Given the description of an element on the screen output the (x, y) to click on. 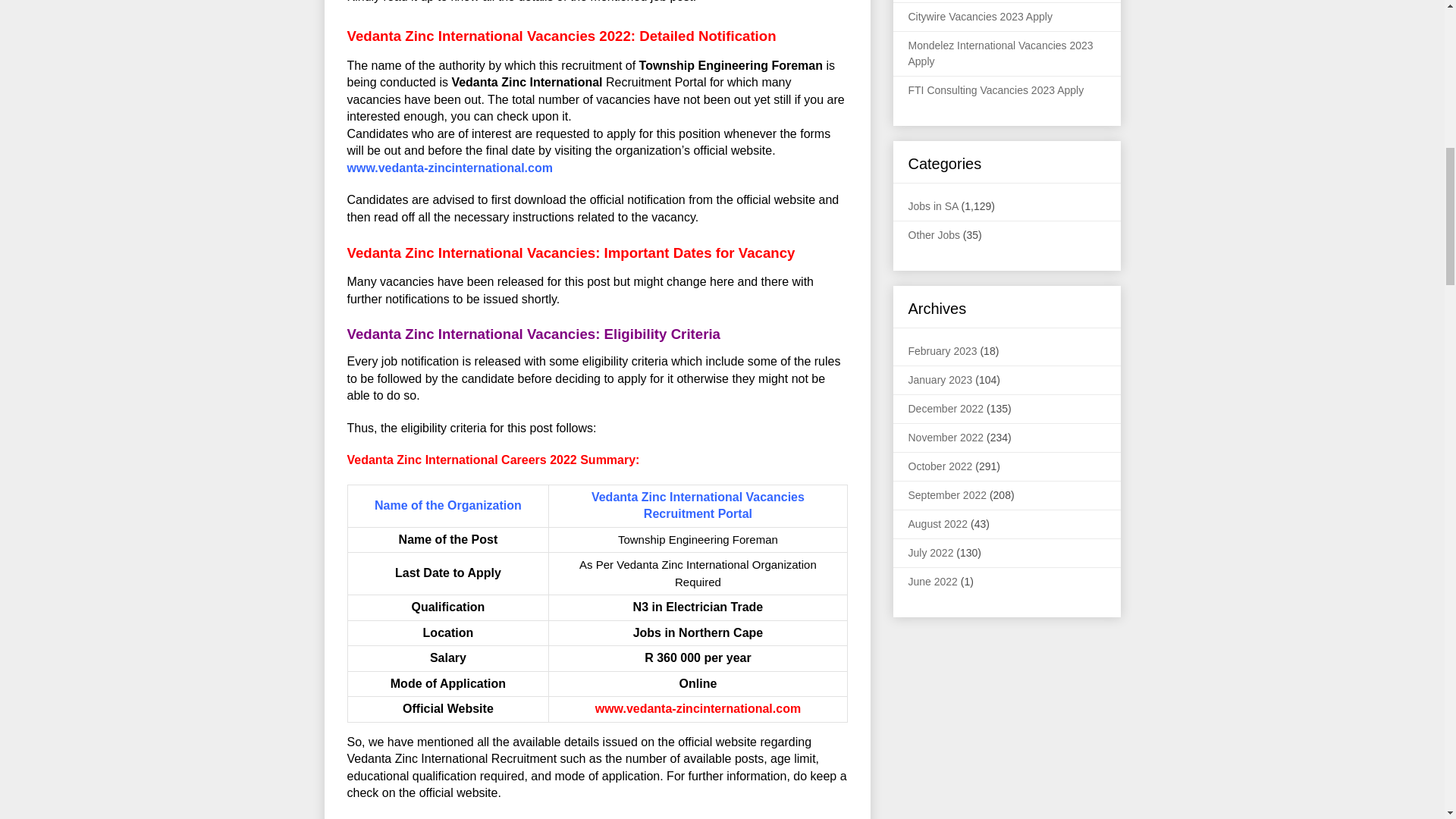
FTI Consulting Vacancies 2023 Apply (996, 90)
Citywire Vacancies 2023 Apply (980, 16)
Mondelez International Vacancies 2023 Apply (1000, 53)
